Given the description of an element on the screen output the (x, y) to click on. 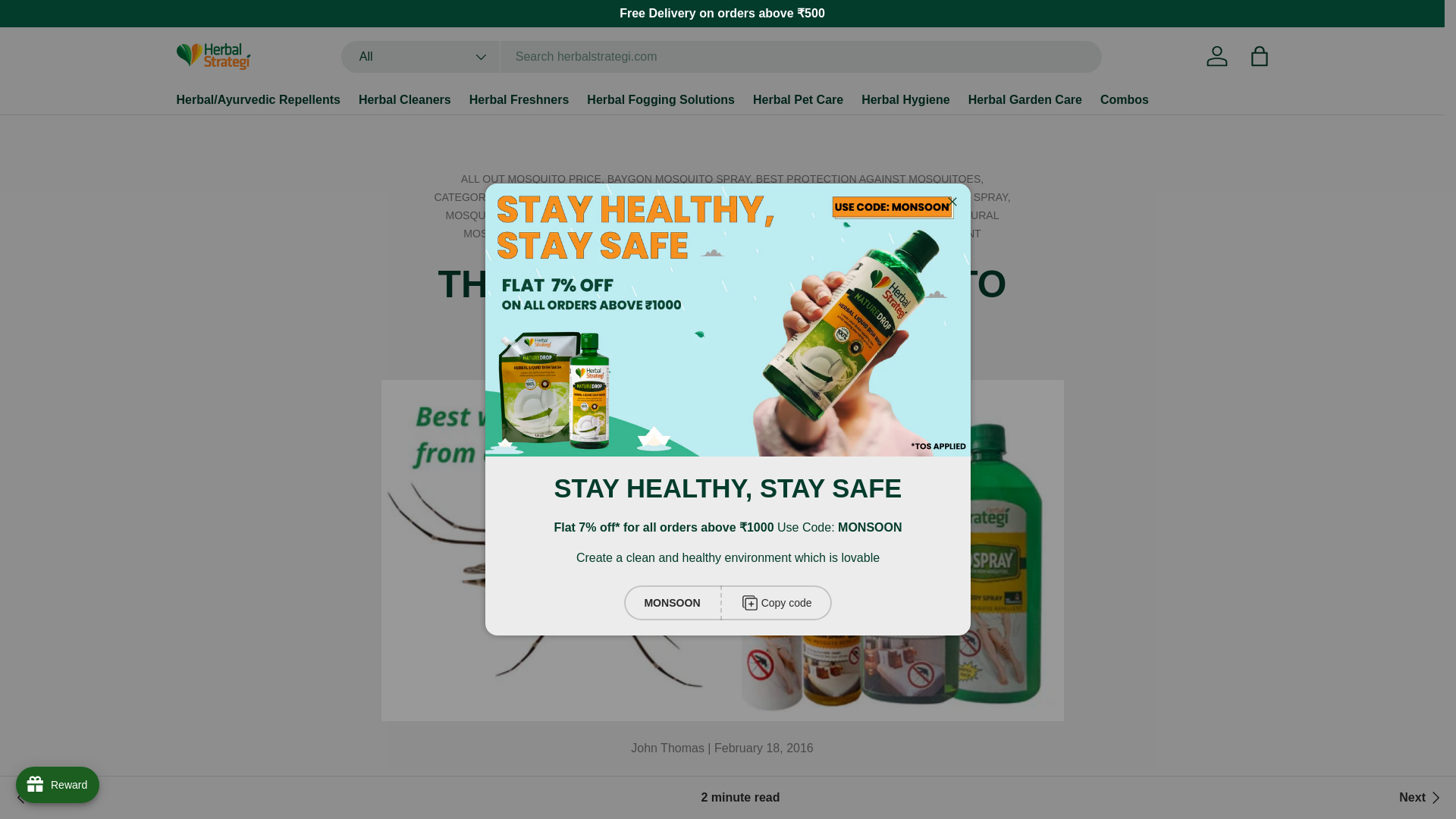
MOSQUITO BODY SPRAY, (944, 196)
Herbal Garden Care (1024, 99)
Herbal Hygiene (905, 99)
Combos (1124, 99)
BEST PROTECTION AGAINST MOSQUITOES, (869, 178)
Herbal Fogging Solutions (660, 99)
All (420, 56)
Herbal Pet Care (797, 99)
Previous (46, 797)
Herbal Cleaners (404, 99)
Skip to content (69, 21)
TOP MOSQUITO REPELLENT (906, 233)
Hand Sanitizers are great. But choose wisely! (1421, 797)
ALL OUT MOSQUITO PRICE, (534, 178)
Bag (1258, 55)
